Given the description of an element on the screen output the (x, y) to click on. 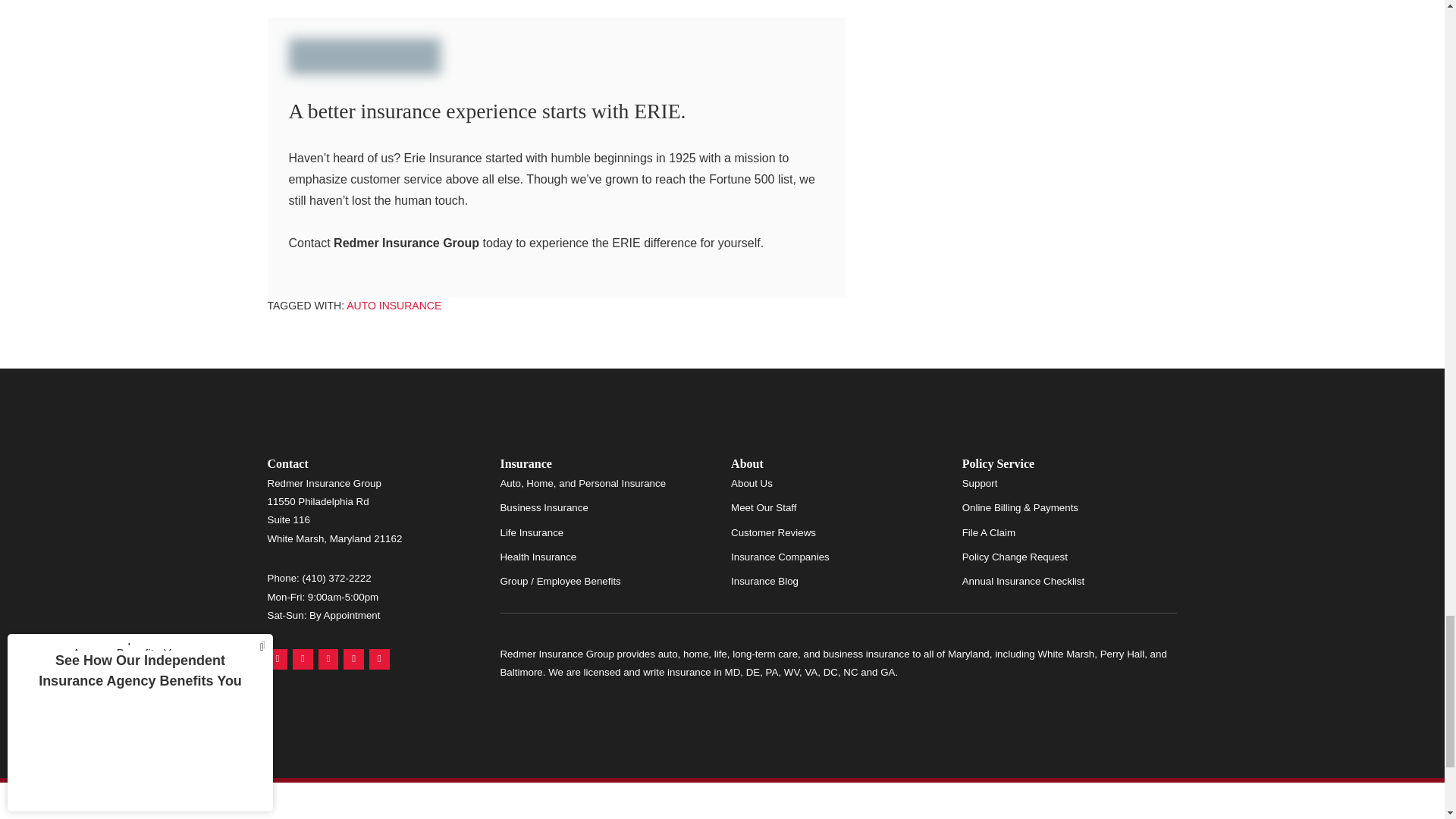
Instagram (379, 659)
Yelp (302, 659)
LinkedIn (353, 659)
Auto Insurance (393, 305)
Google Maps (276, 659)
Facebook (328, 659)
